Given the description of an element on the screen output the (x, y) to click on. 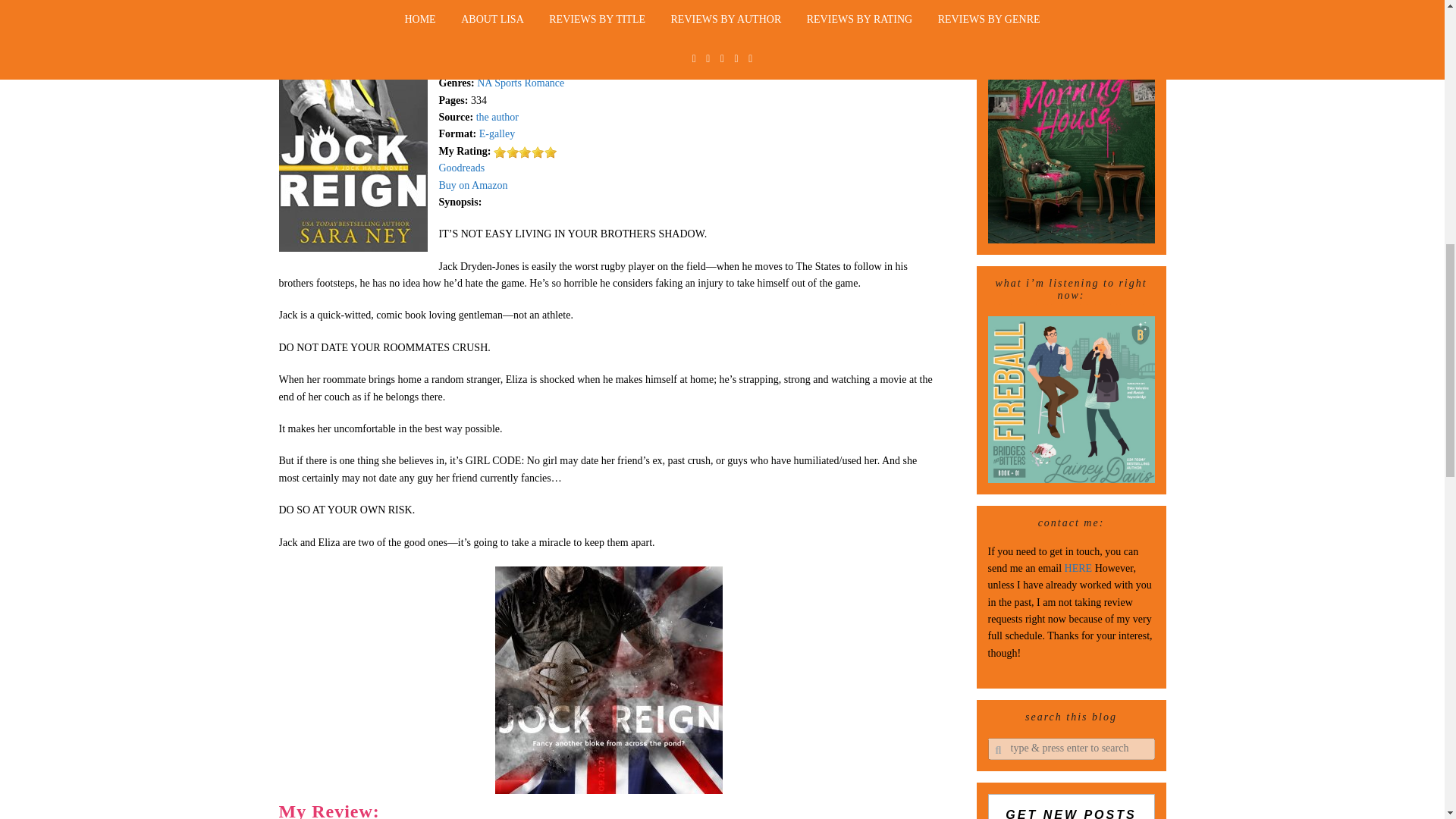
E-galley (497, 133)
the author (497, 116)
NA Sports Romance (520, 82)
Goodreads (461, 167)
Sara Ney (524, 31)
Buy on Amazon (472, 184)
